Given the description of an element on the screen output the (x, y) to click on. 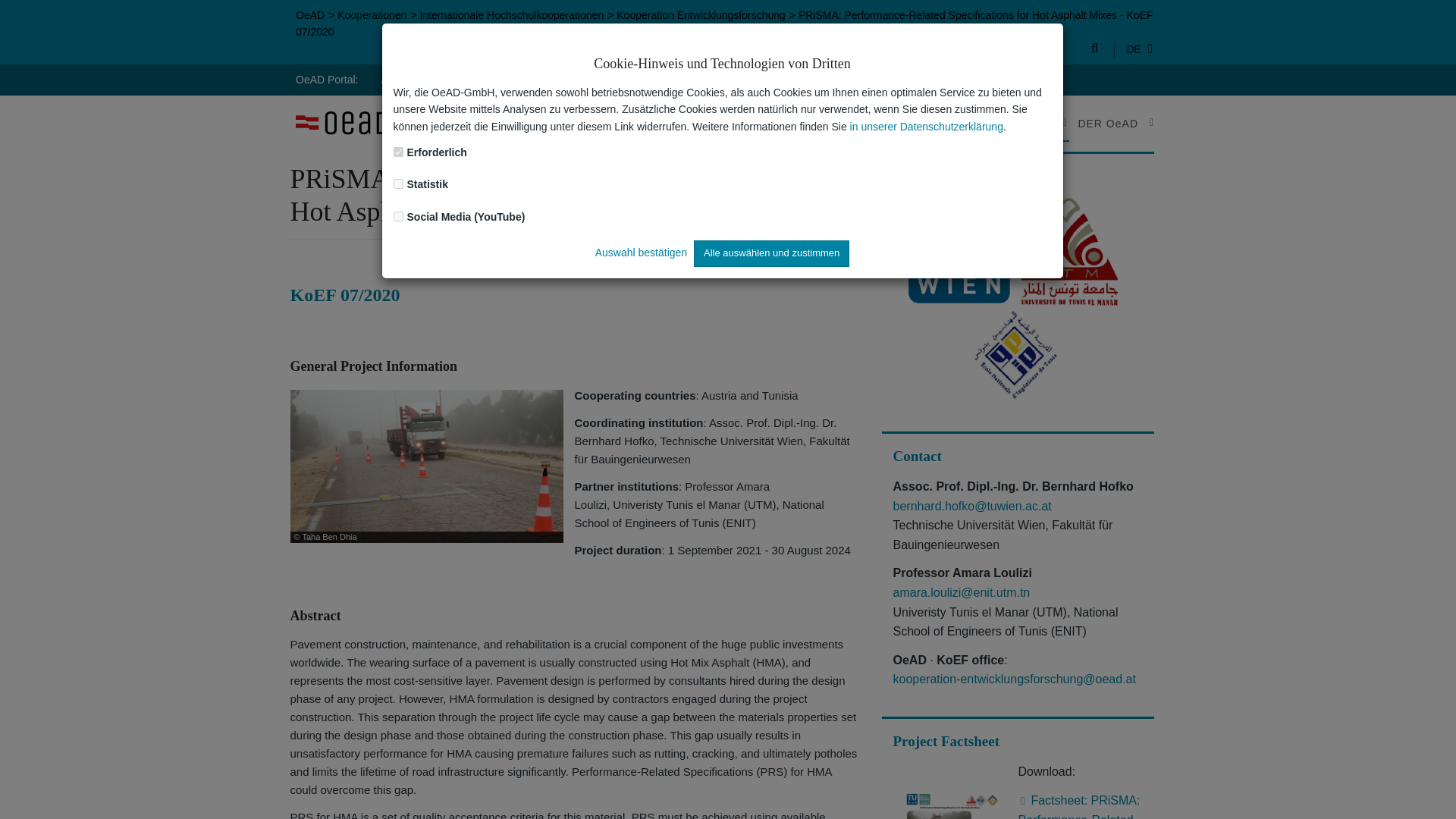
Presse (719, 79)
OeAD (309, 14)
Kontaktverzeichnis (872, 79)
on (398, 184)
Social Media (649, 79)
zur OeAD Startseite (341, 123)
Kooperation Entwicklungsforschung (700, 14)
Internationale Hochschulkooperationen (511, 14)
on (398, 152)
on (398, 216)
Newsletter (570, 79)
Veranstaltungen (484, 79)
Karriere (781, 79)
Kooperationen (371, 14)
Aktuelles (401, 79)
